Given the description of an element on the screen output the (x, y) to click on. 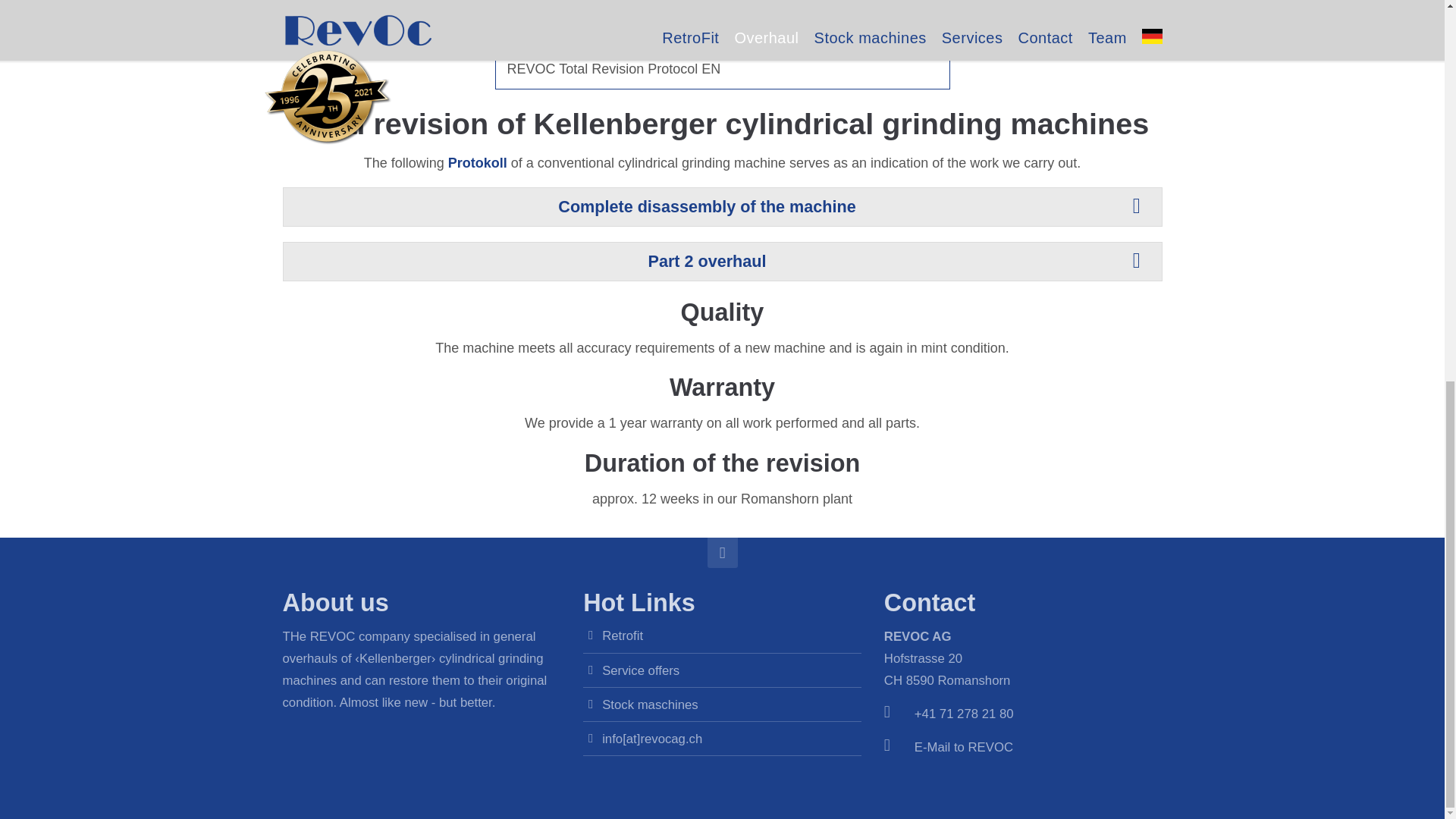
Retrofit (622, 635)
E-Mail to REVOC (963, 747)
REVOC Total Revision Protocol EN (722, 68)
Protokoll (477, 162)
Download revoc-total-revision-protocol-en.pdf (722, 68)
Service offers (640, 670)
Stock maschines (650, 704)
